Given the description of an element on the screen output the (x, y) to click on. 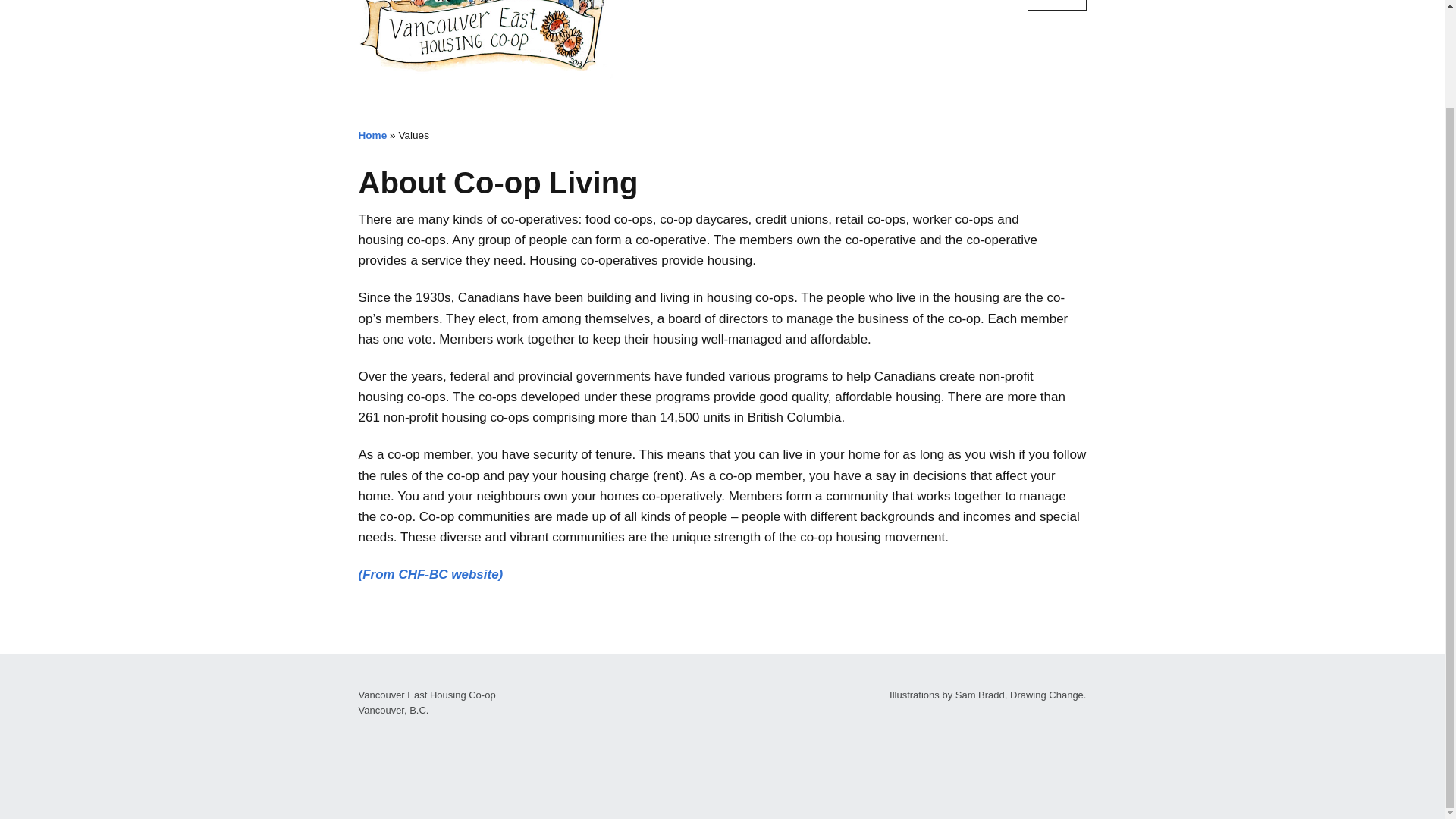
LOGIN (1056, 4)
Home (372, 134)
VALUES (929, 4)
APPLY (994, 4)
ABOUT (861, 4)
